Given the description of an element on the screen output the (x, y) to click on. 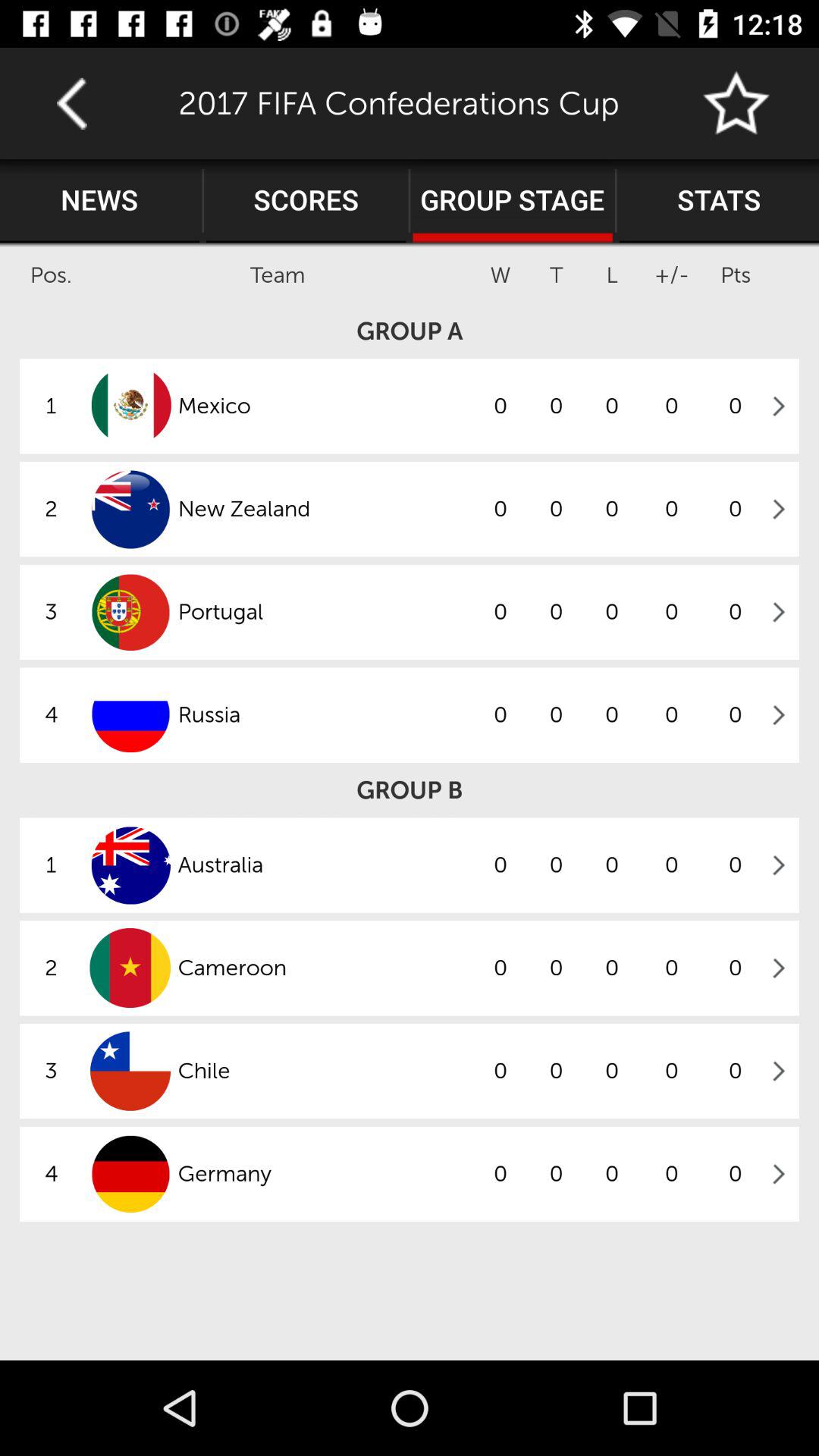
open item to the left of 0 icon (325, 864)
